Given the description of an element on the screen output the (x, y) to click on. 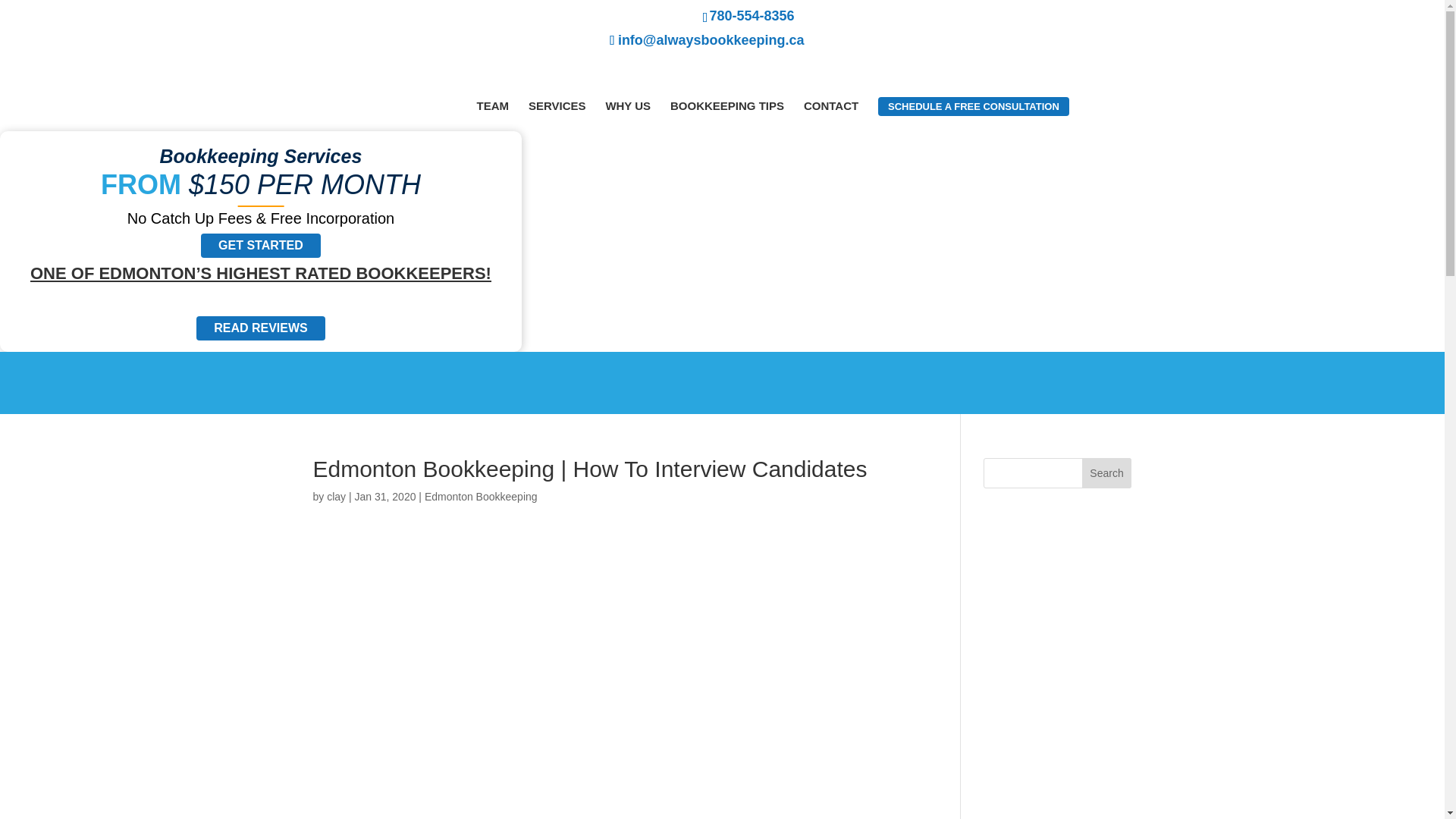
WHY US (627, 105)
TEAM (492, 105)
BOOKKEEPING TIPS (726, 105)
Posts by clay (336, 496)
GET STARTED (260, 245)
Search (1106, 472)
SERVICES (557, 105)
780-554-8356 (553, 15)
Edmonton Bookkeeping (481, 496)
Search (1106, 472)
SCHEDULE A FREE CONSULTATION (972, 106)
CONTACT (831, 105)
READ REVIEWS (260, 328)
clay (336, 496)
